Given the description of an element on the screen output the (x, y) to click on. 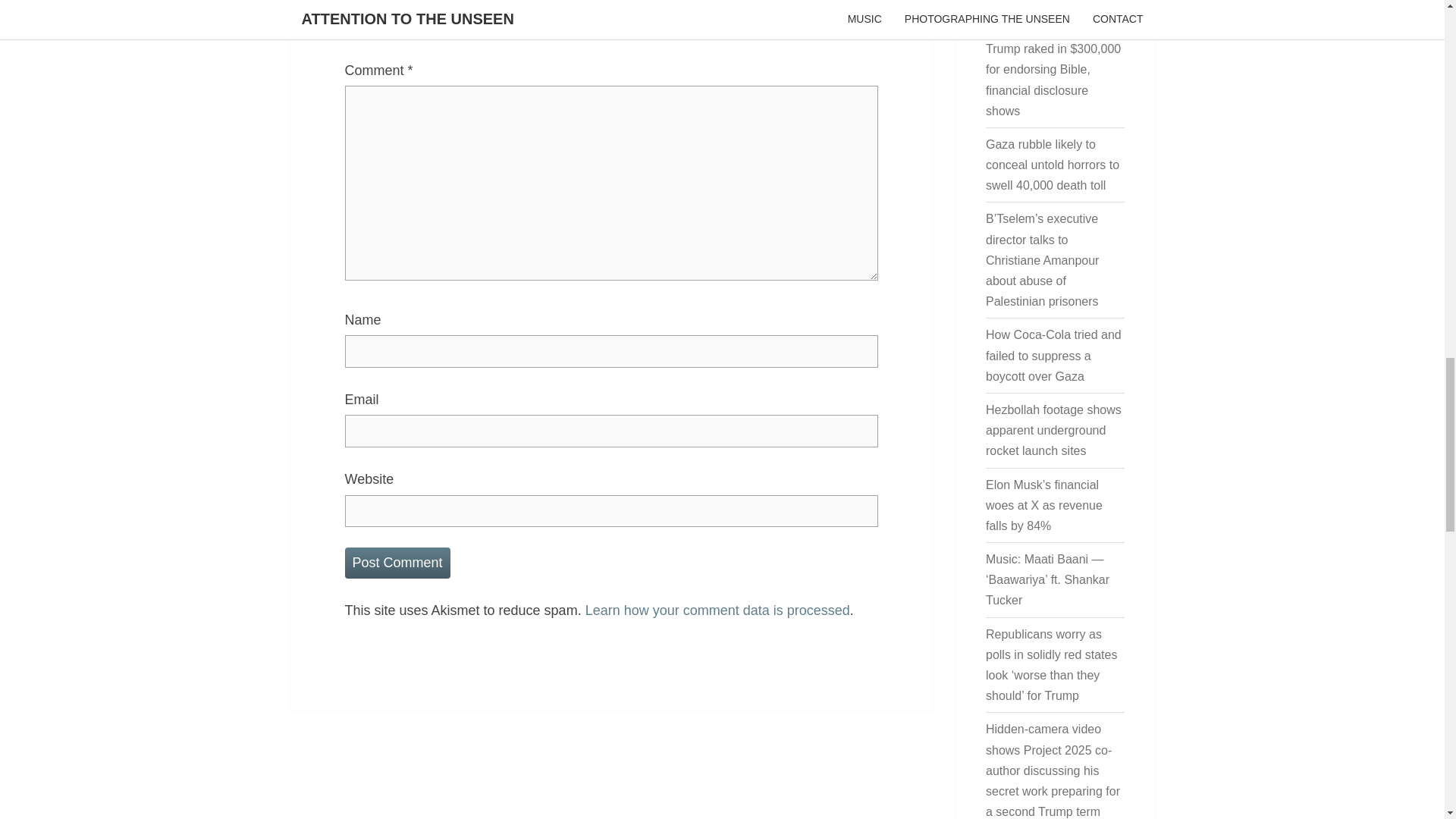
Post Comment (396, 562)
Post Comment (396, 562)
Learn how your comment data is processed (717, 610)
